Given the description of an element on the screen output the (x, y) to click on. 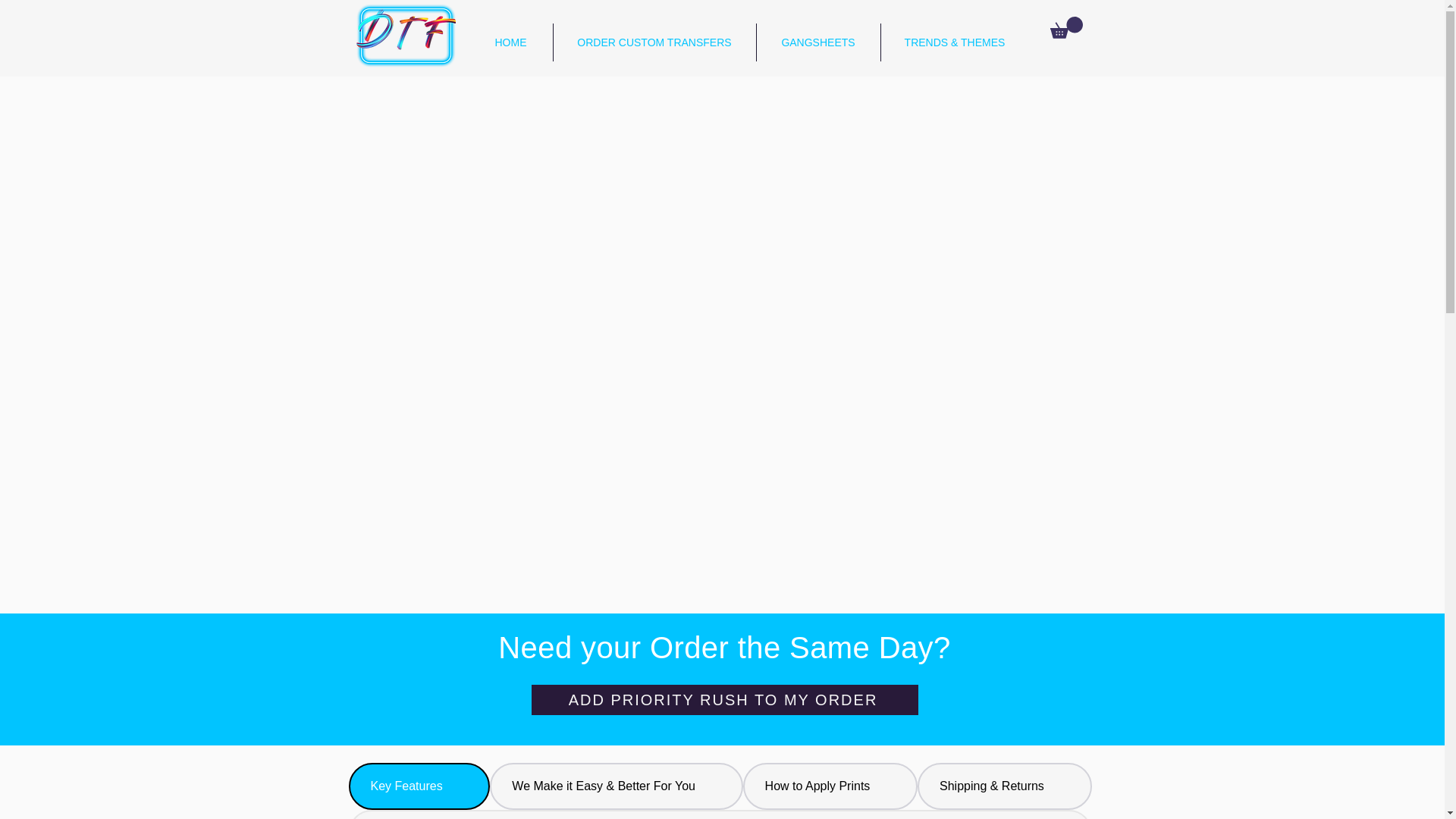
HOME (509, 42)
ORDER CUSTOM TRANSFERS (654, 42)
ADD PRIORITY RUSH TO MY ORDER (724, 699)
GANGSHEETS (818, 42)
